Given the description of an element on the screen output the (x, y) to click on. 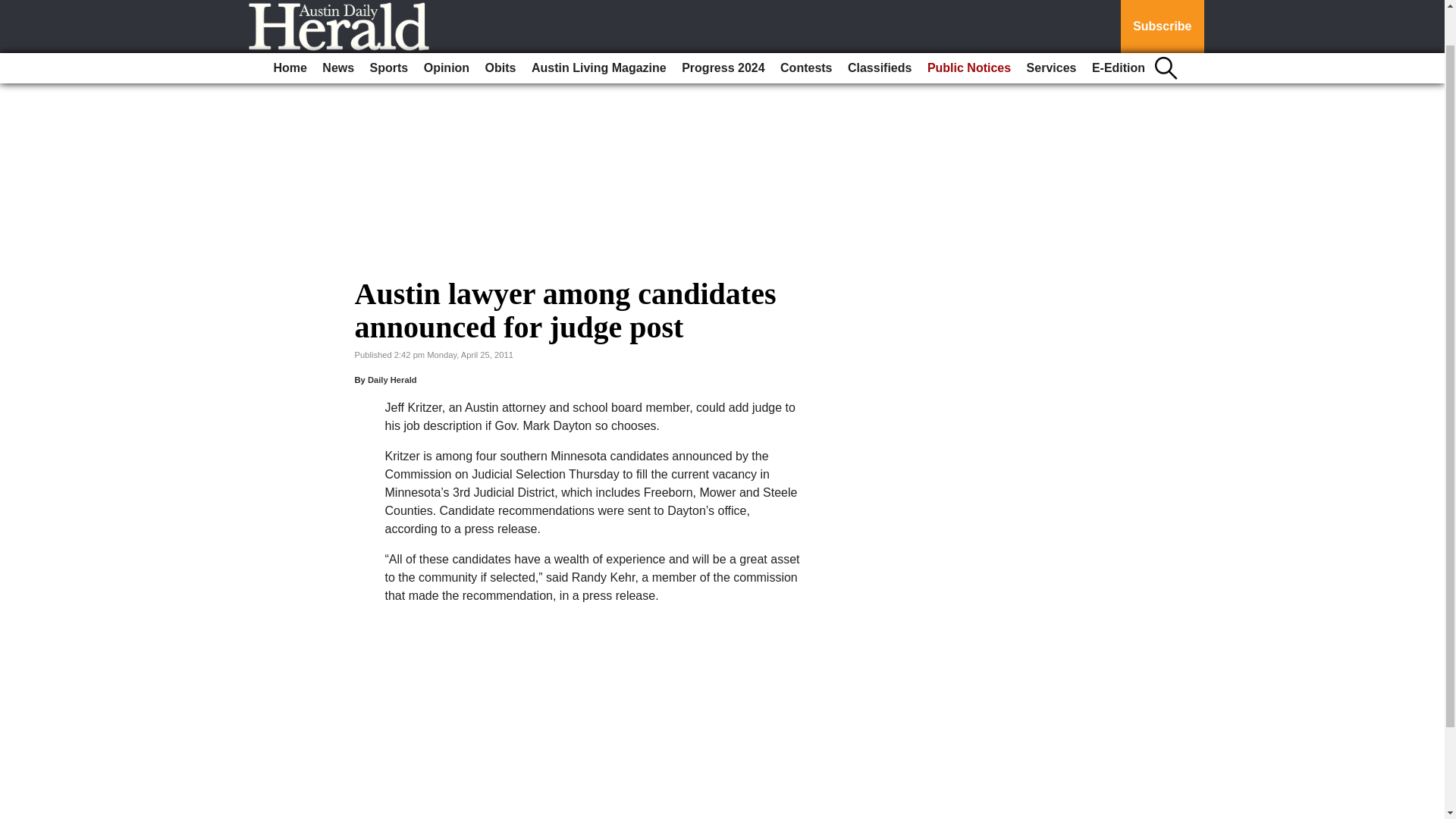
Austin Living Magazine (598, 26)
Contests (806, 26)
Sports (389, 26)
Home (289, 26)
Public Notices (968, 26)
Opinion (446, 26)
Classifieds (879, 26)
Progress 2024 (722, 26)
Obits (500, 26)
Services (1051, 26)
Subscribe (1162, 5)
News (337, 26)
